Given the description of an element on the screen output the (x, y) to click on. 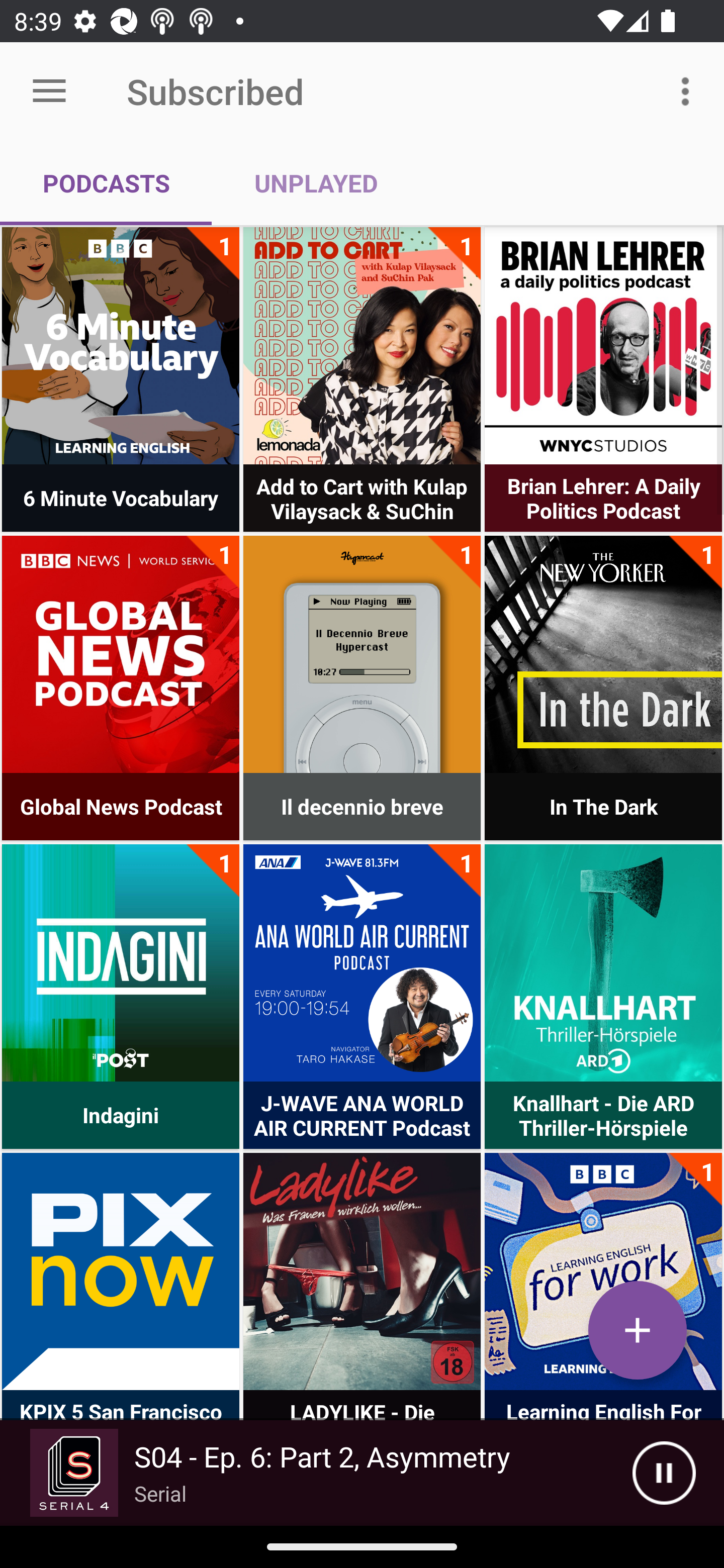
Open menu (49, 91)
More options (688, 90)
PODCASTS (105, 183)
UNPLAYED (315, 183)
6 Minute Vocabulary (120, 345)
Add to Cart with Kulap Vilaysack & SuChin Pak (361, 345)
Brian Lehrer: A Daily Politics Podcast (602, 345)
Global News Podcast (120, 654)
Il decennio breve (361, 654)
In The Dark (602, 654)
Indagini (120, 962)
J-WAVE ANA WORLD AIR CURRENT Podcast (361, 962)
Knallhart - Die ARD Thriller-Hörspiele (602, 962)
KPIX 5 San Francisco Bay Area (120, 1271)
Learning English For Work (602, 1271)
Picture S04 - Ep. 6: Part 2, Asymmetry Serial (316, 1472)
Pause (663, 1472)
